Given the description of an element on the screen output the (x, y) to click on. 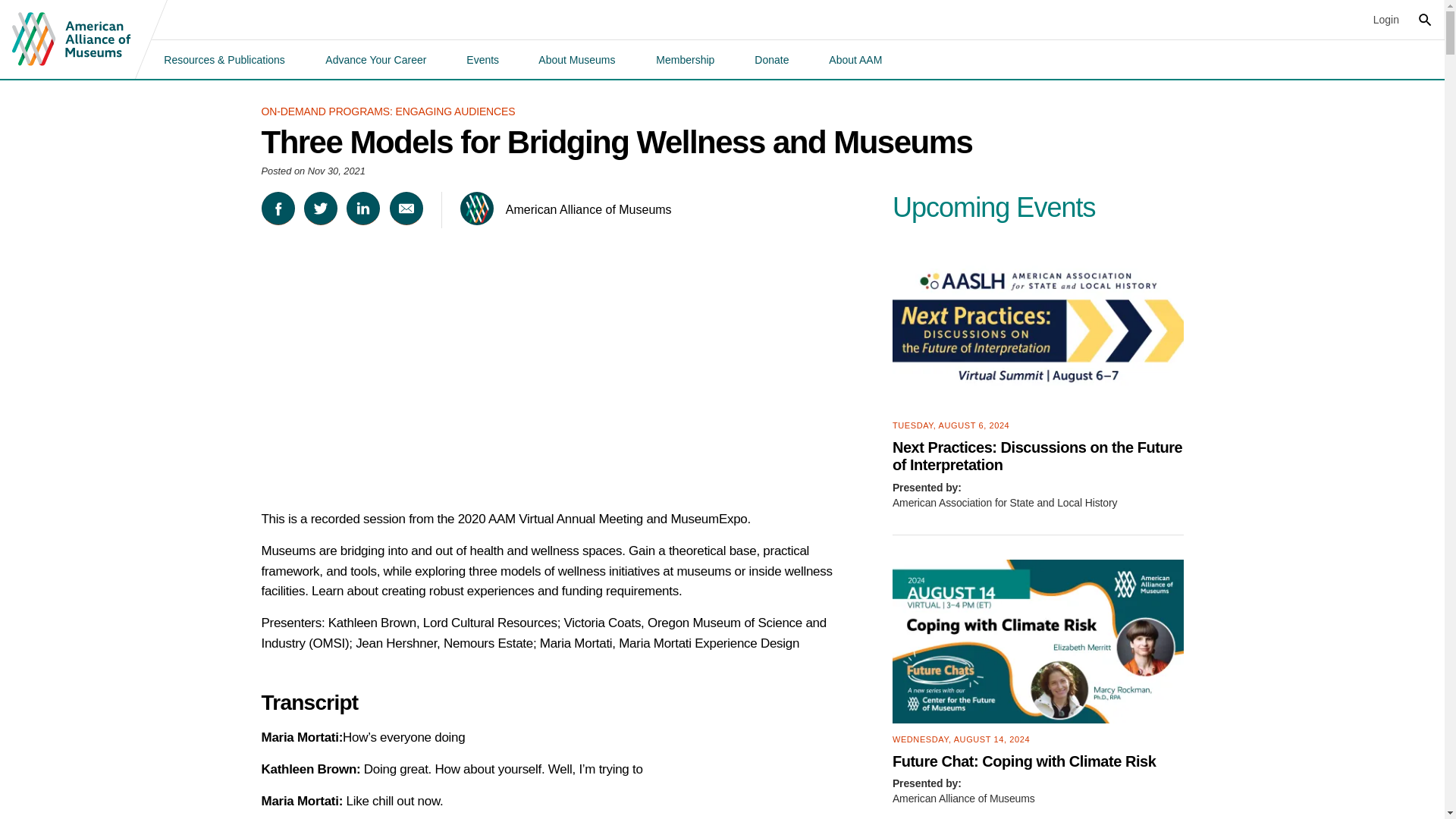
Advance Your Career (374, 59)
LinkedIn (363, 208)
Email (406, 208)
Facebook (277, 208)
Events (481, 59)
Twitter (320, 208)
AAM Homepage (71, 39)
About Museums (576, 59)
